Given the description of an element on the screen output the (x, y) to click on. 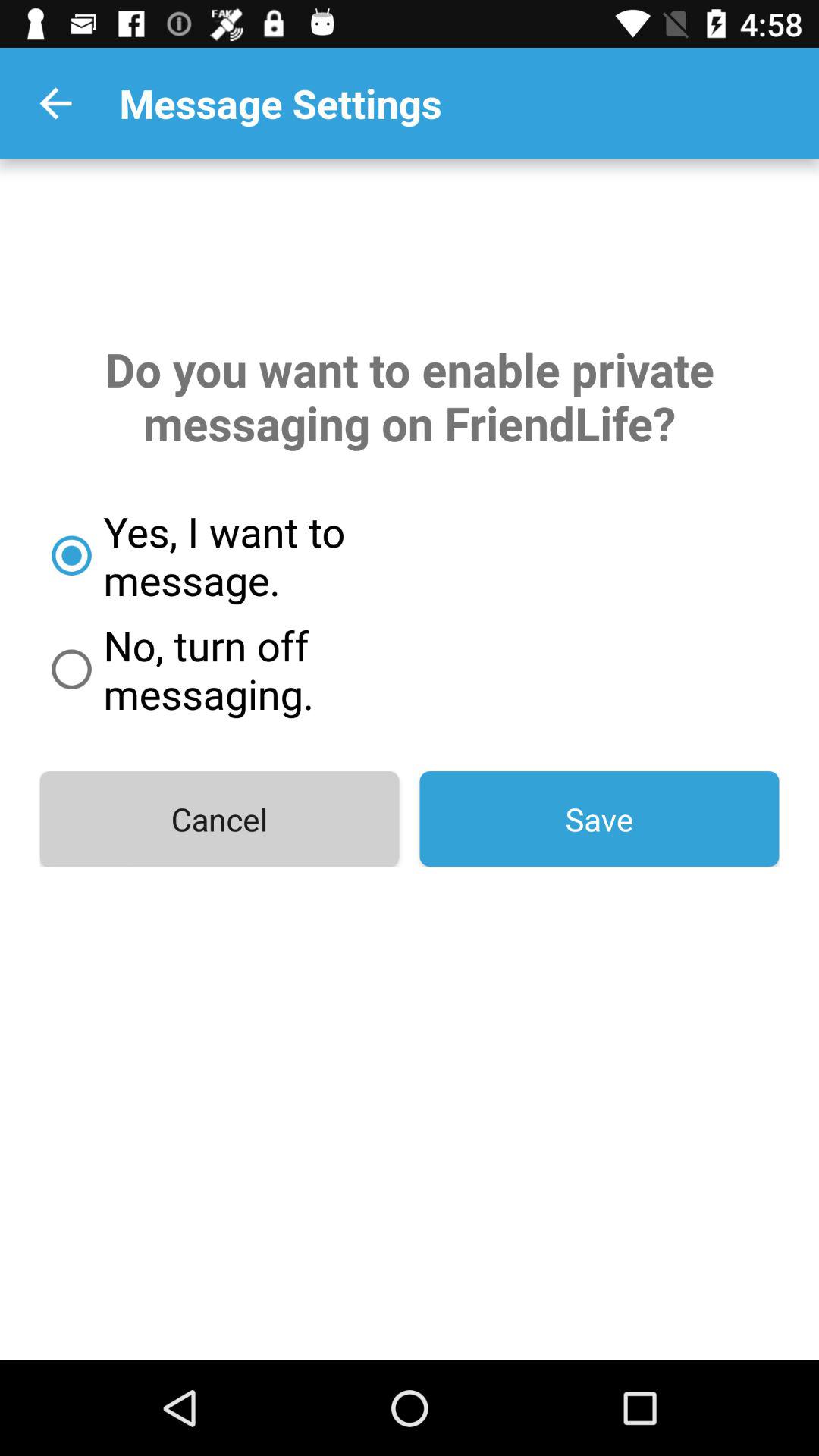
choose the item next to save (219, 818)
